Given the description of an element on the screen output the (x, y) to click on. 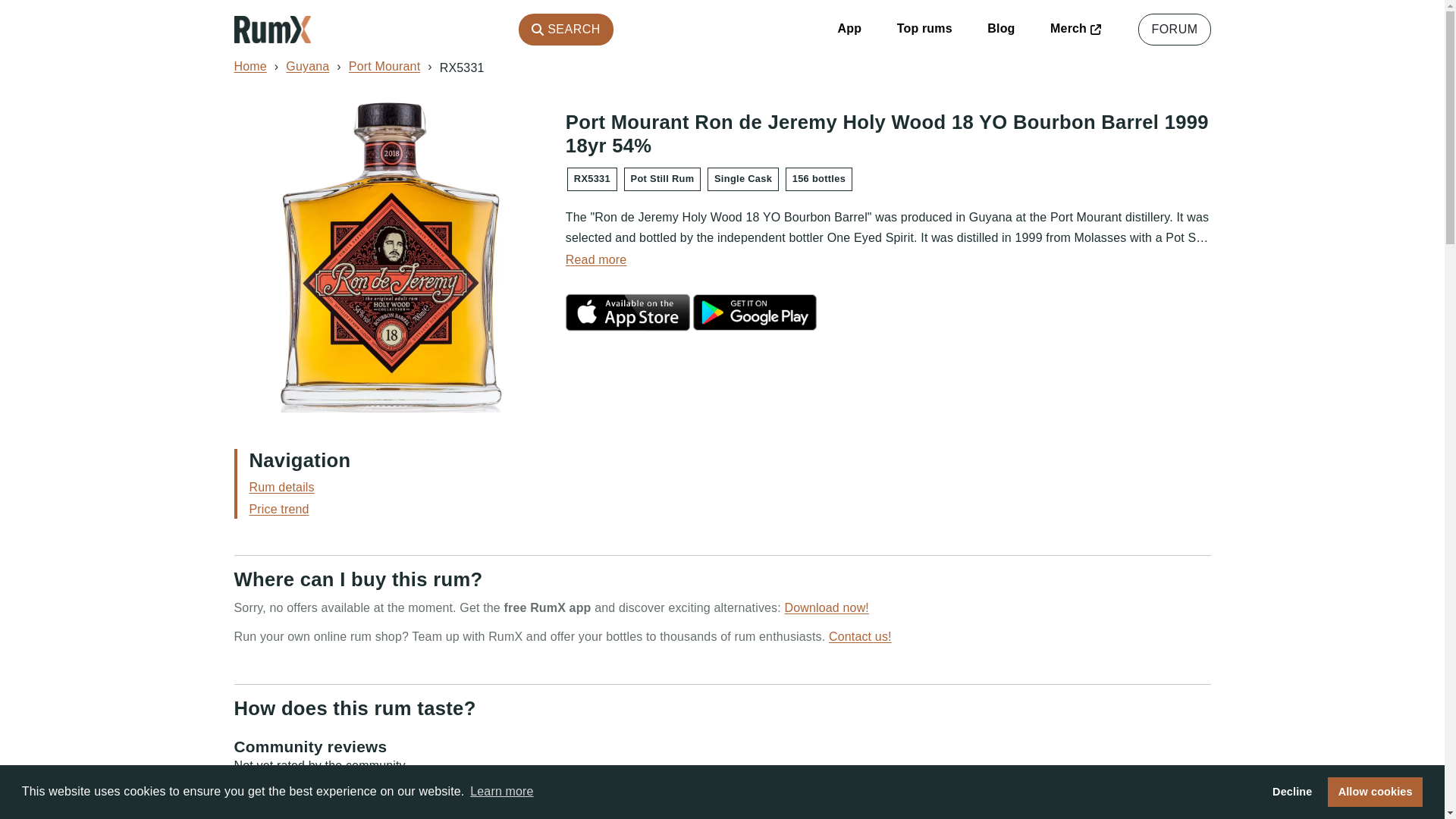
Learn more (501, 791)
Contact us! (859, 635)
Blog (1001, 28)
App (849, 28)
Home (249, 65)
Merch (1074, 28)
Download now! (825, 607)
Top rums (924, 28)
FORUM (1173, 29)
App (849, 28)
Rum details (281, 486)
Blog (1001, 28)
Guyana (307, 65)
FORUM (1173, 29)
